Given the description of an element on the screen output the (x, y) to click on. 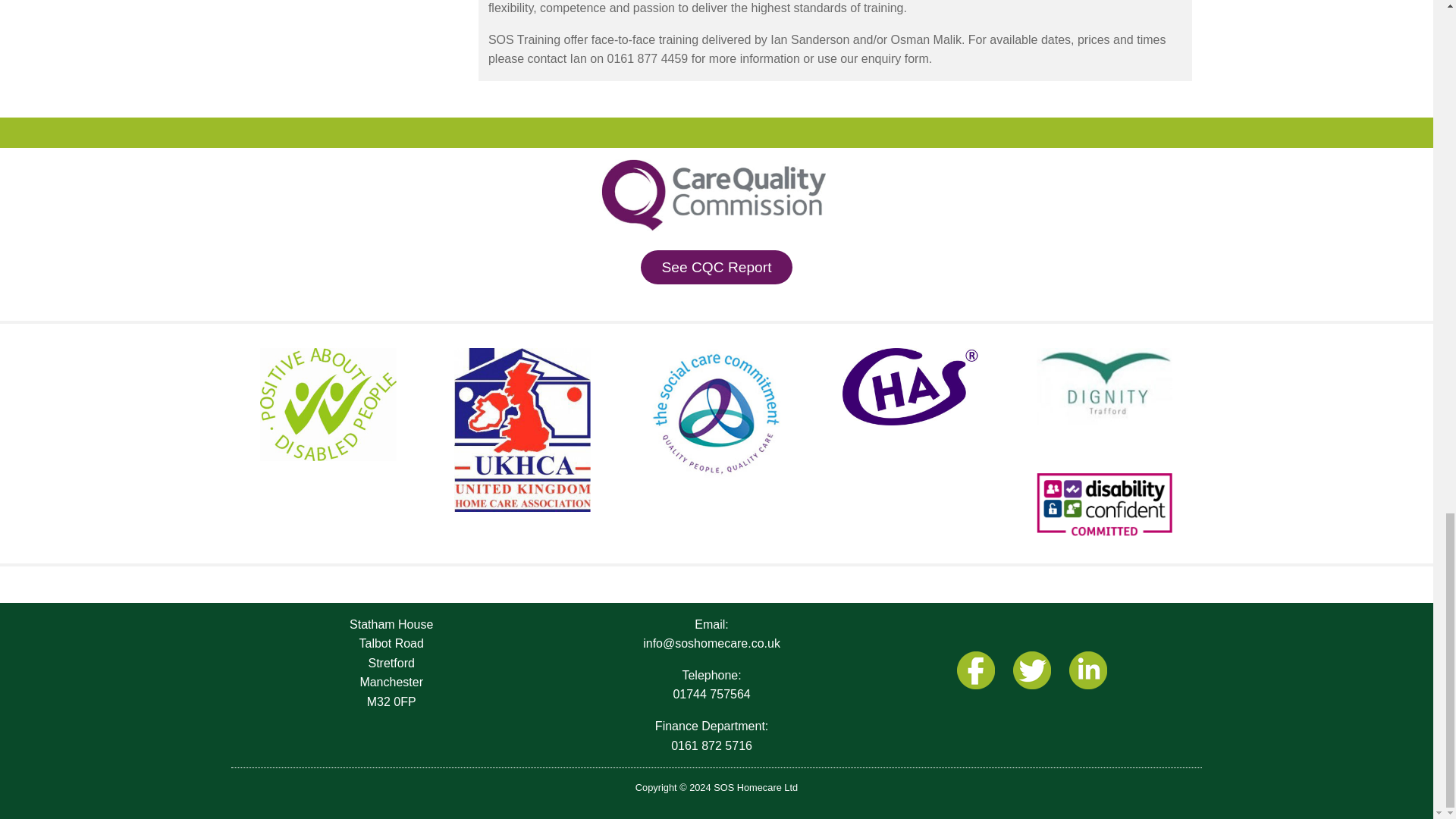
See CQC Report (716, 267)
